Given the description of an element on the screen output the (x, y) to click on. 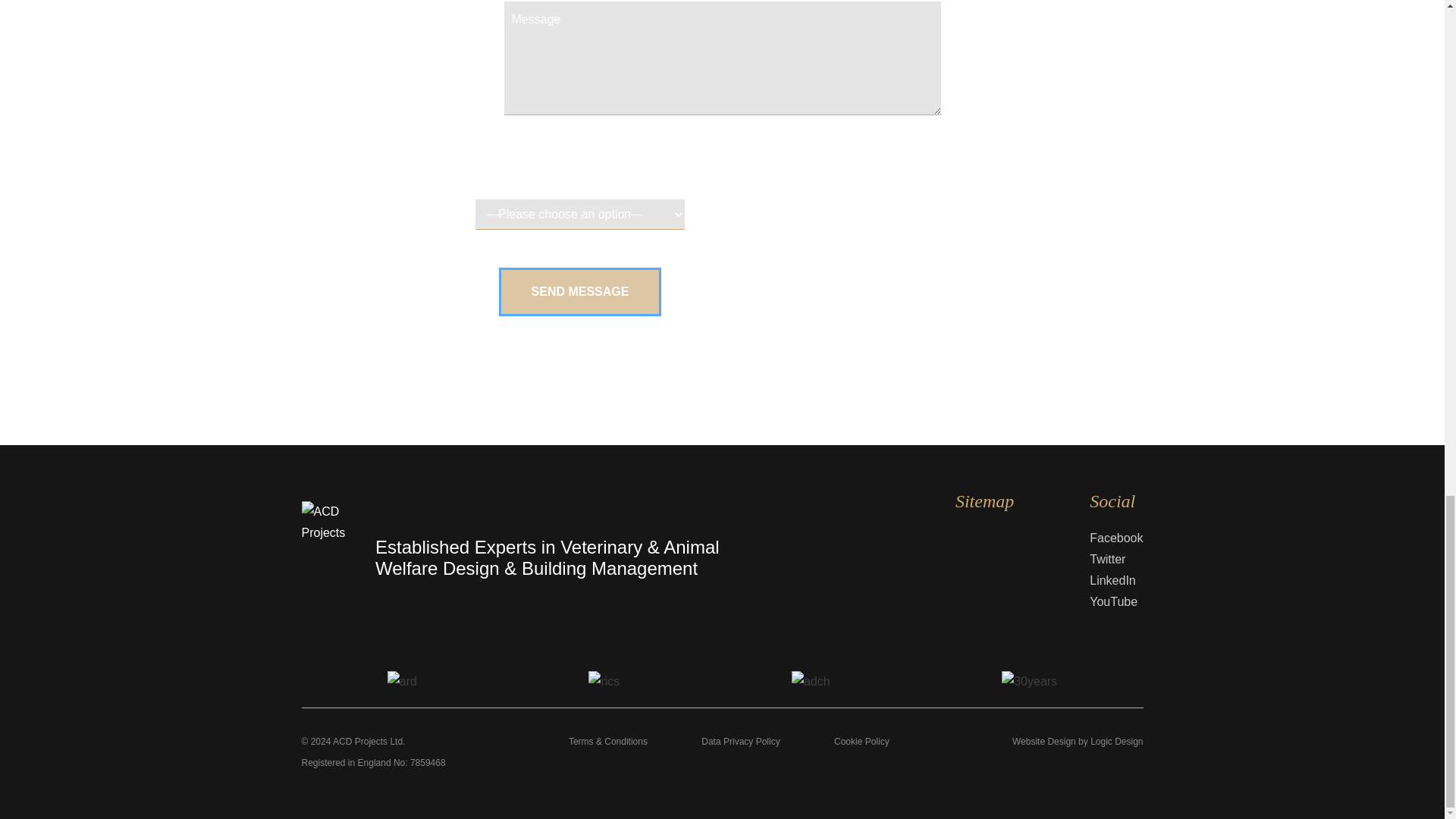
Send Message (580, 291)
